Given the description of an element on the screen output the (x, y) to click on. 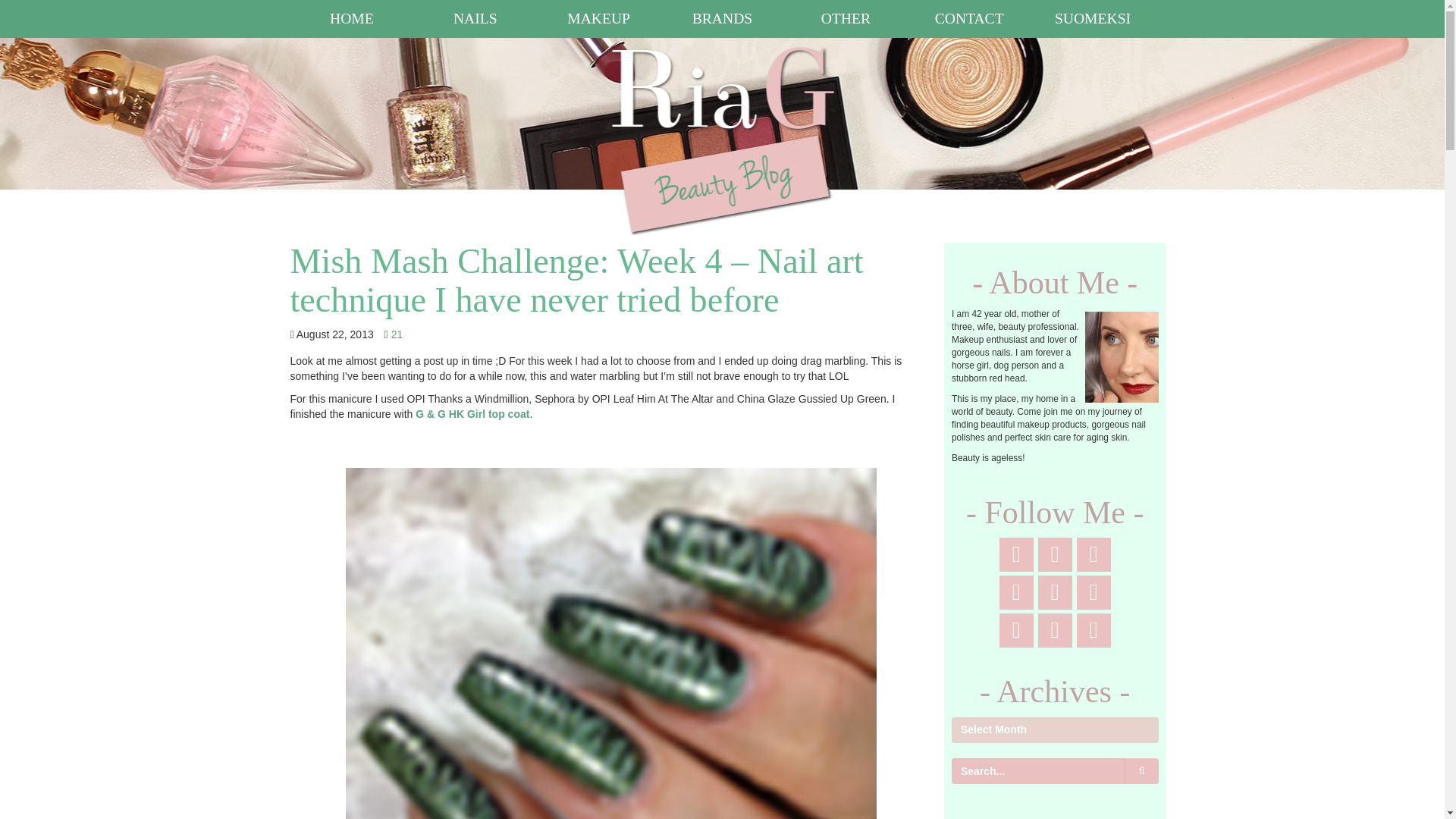
NAILS (475, 18)
MAKEUP (599, 18)
BRANDS (722, 18)
Search for: (1038, 770)
HOME (351, 18)
